Given the description of an element on the screen output the (x, y) to click on. 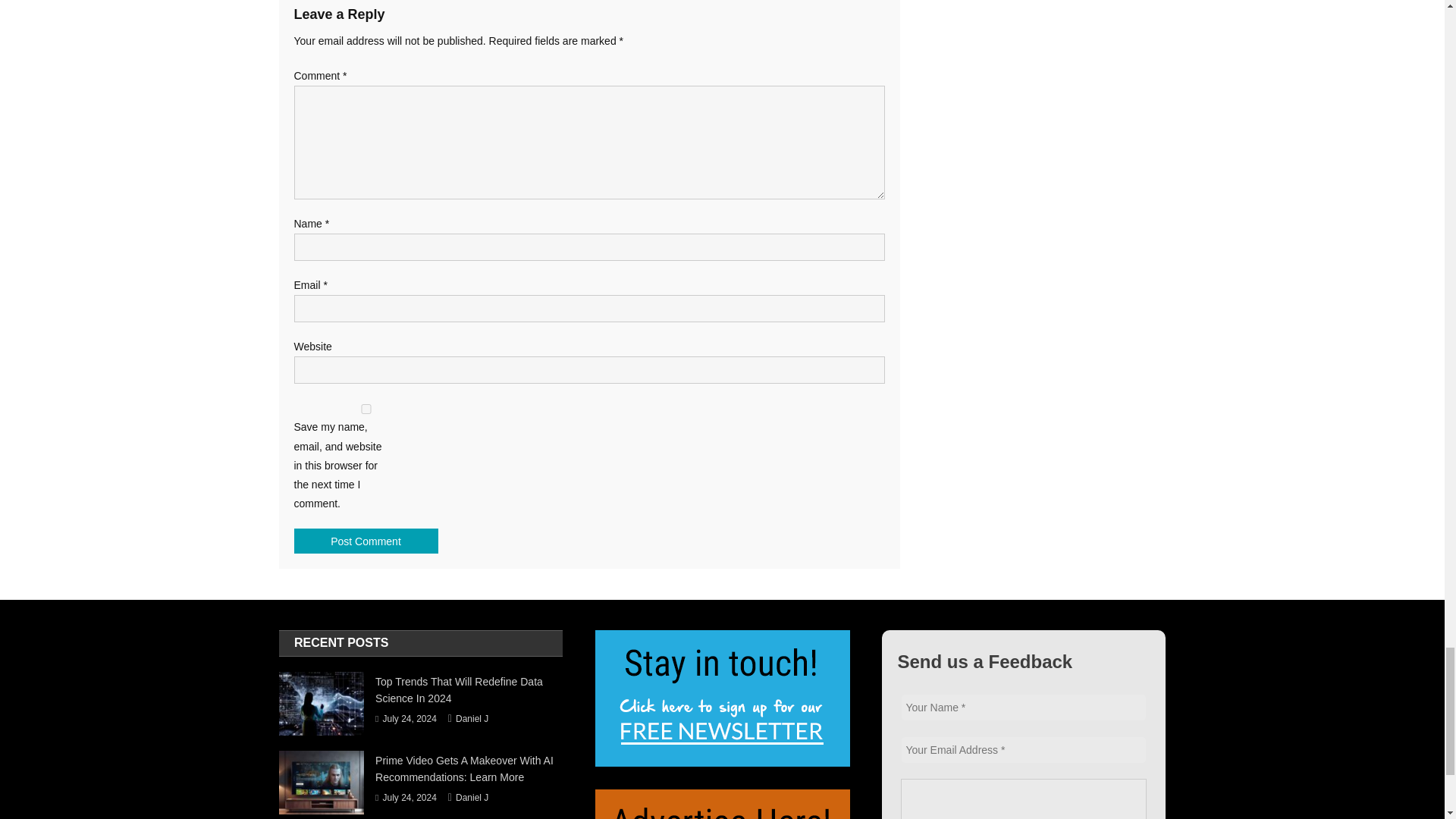
Post Comment (366, 540)
Post Comment (366, 540)
yes (366, 409)
